Given the description of an element on the screen output the (x, y) to click on. 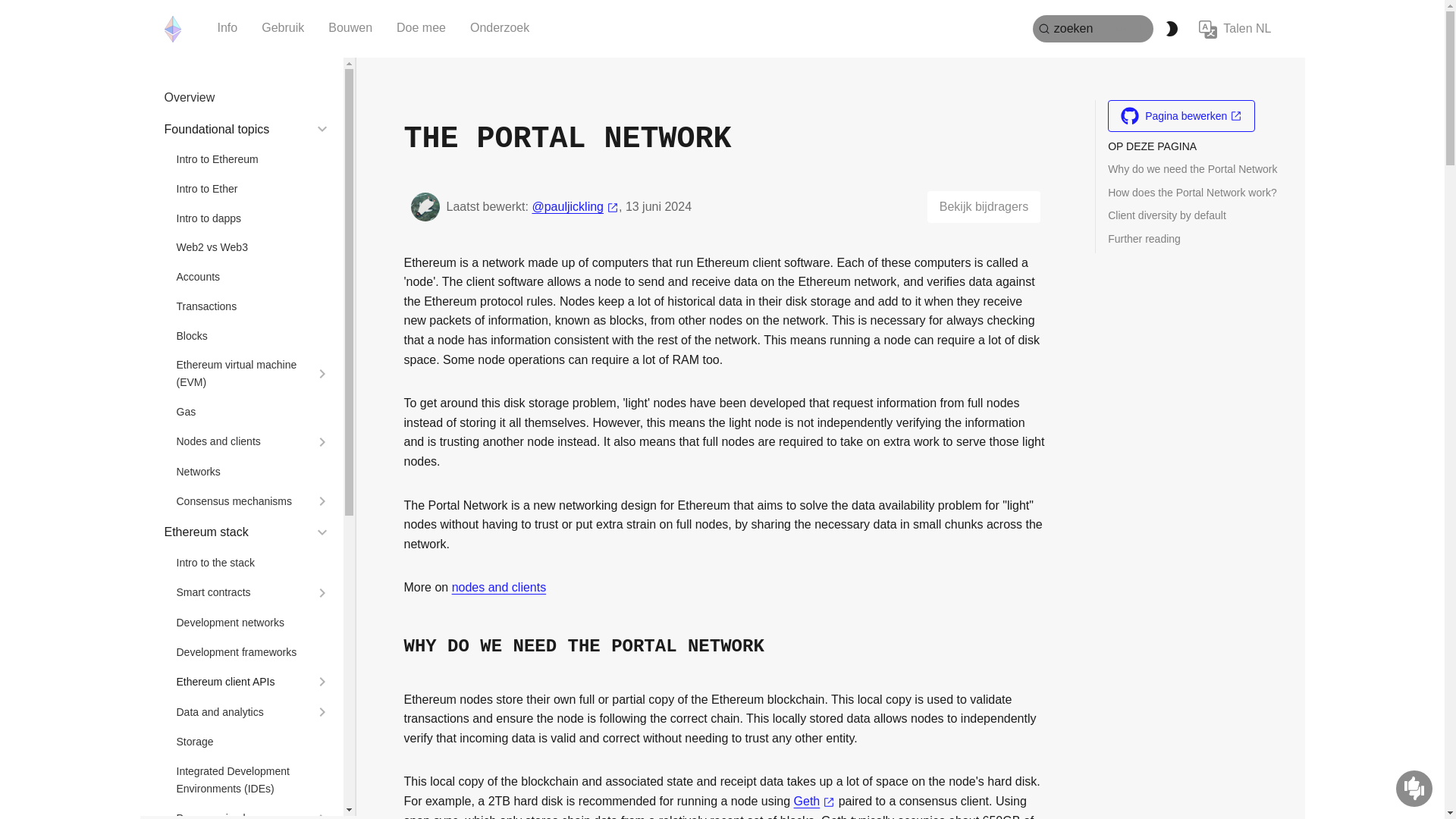
Transactions (253, 306)
Nodes and clients (240, 441)
Web2 vs Web3 (253, 247)
Info (226, 28)
Doe mee (421, 28)
Bouwen (349, 28)
Gas (253, 411)
Talen NL (1234, 29)
Accounts (253, 276)
Networks (253, 471)
Gebruik (281, 28)
Overview (246, 97)
Intro to Ethereum (253, 159)
Blocks (253, 335)
Onderzoek (499, 28)
